Given the description of an element on the screen output the (x, y) to click on. 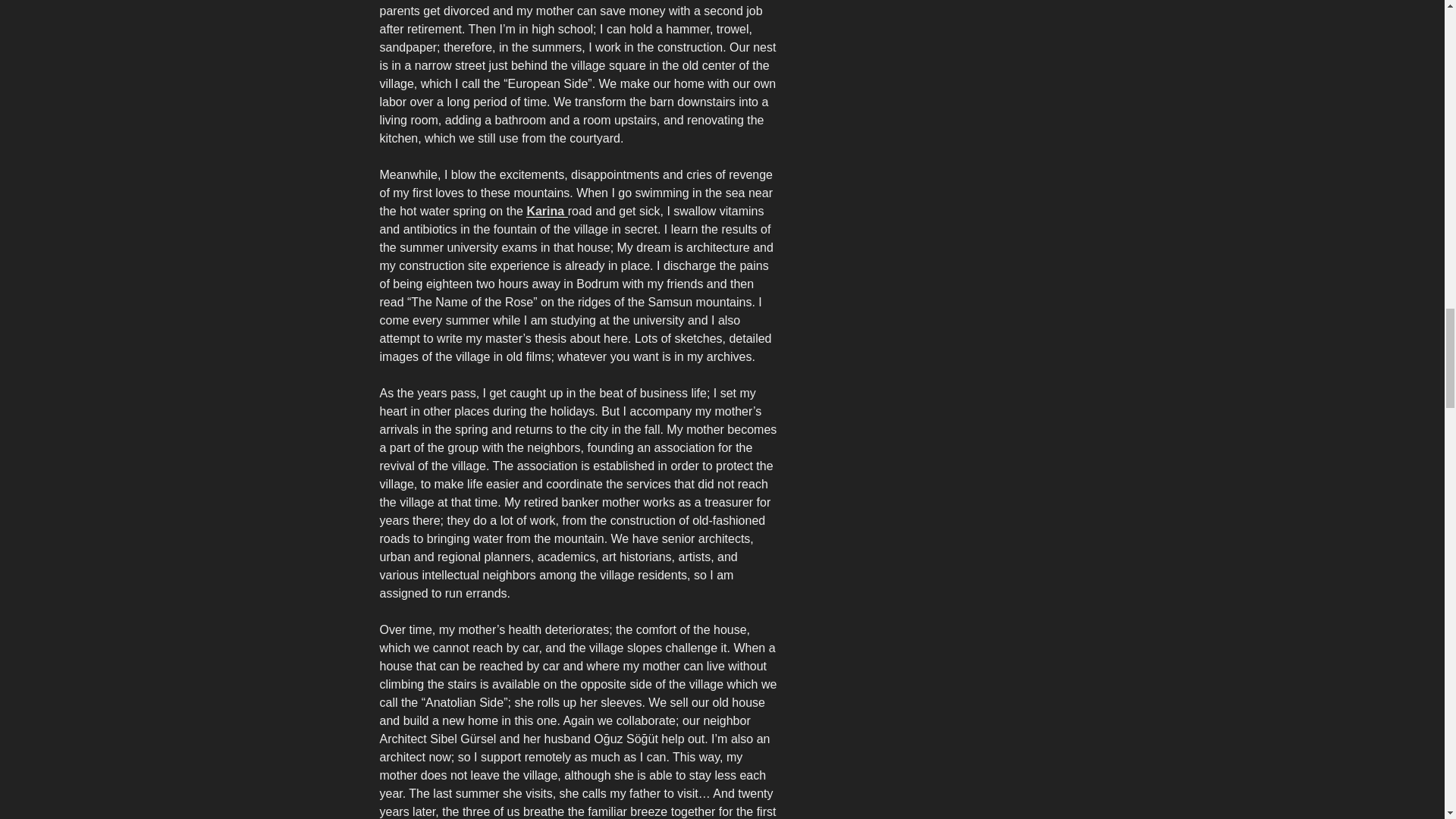
Karina (546, 210)
